Given the description of an element on the screen output the (x, y) to click on. 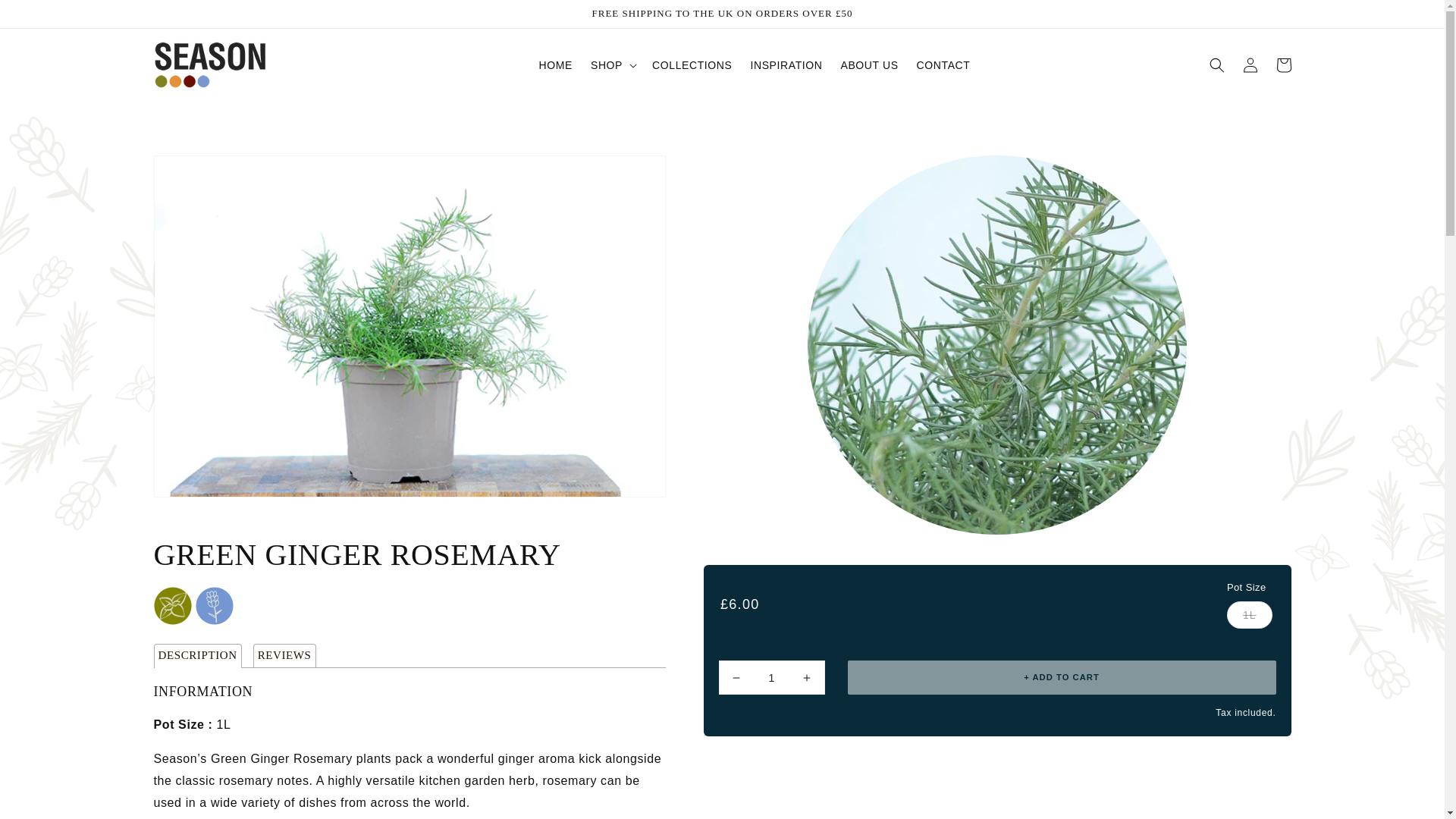
Skip to content (26, 11)
1 (772, 676)
HOME (554, 65)
